Given the description of an element on the screen output the (x, y) to click on. 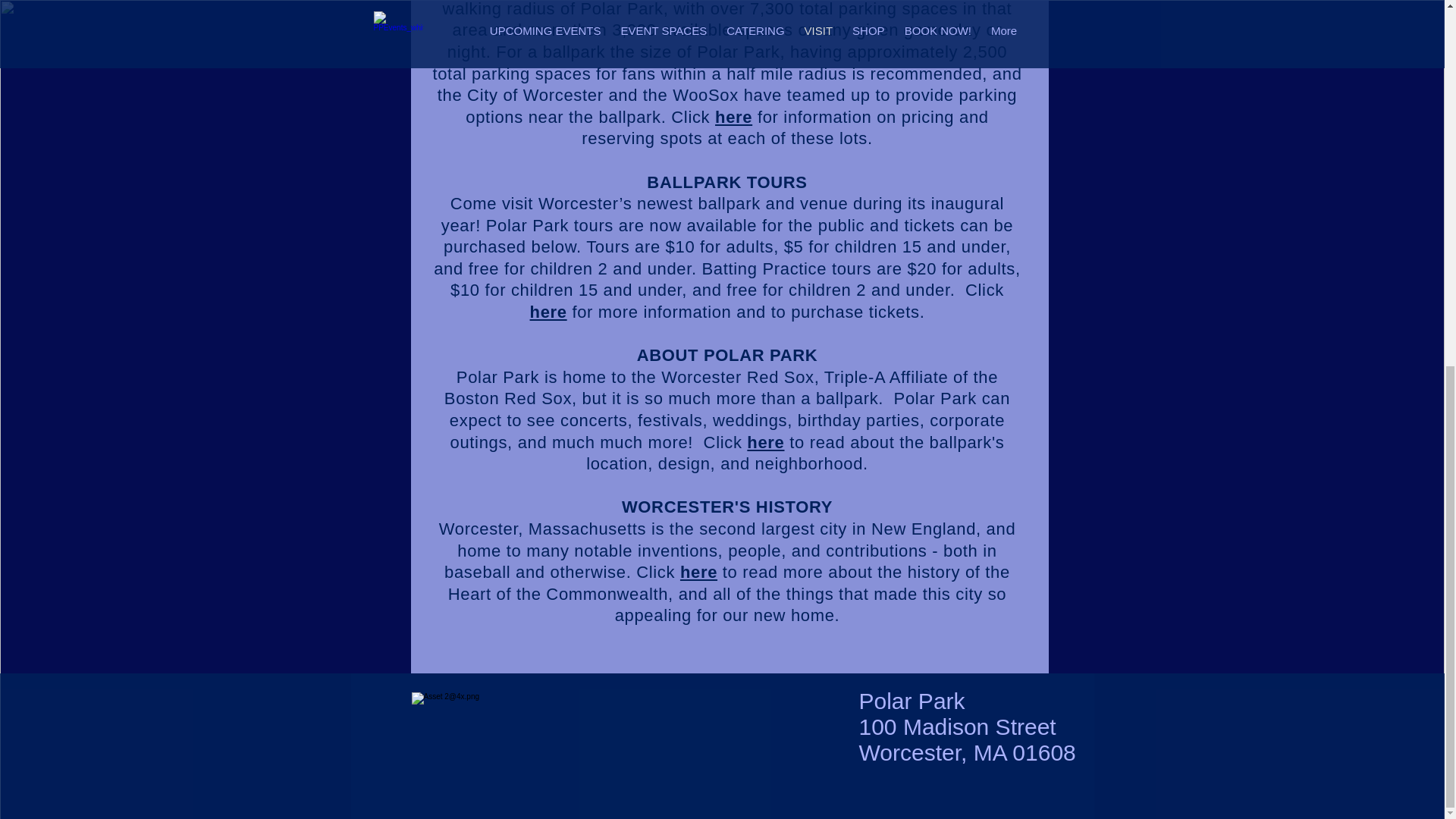
here (698, 571)
here (733, 116)
here (765, 442)
here (548, 311)
